Given the description of an element on the screen output the (x, y) to click on. 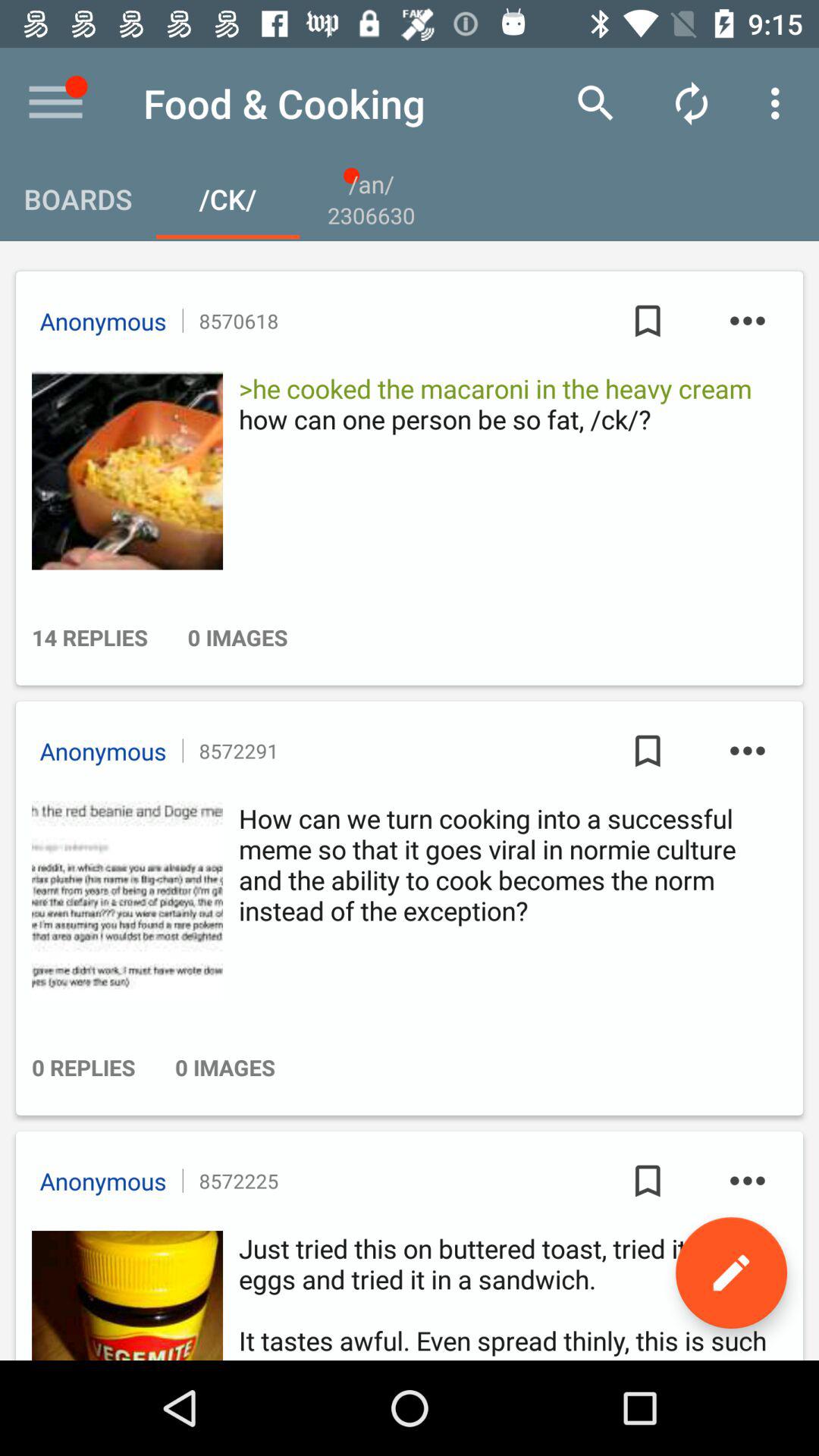
edit it (731, 1272)
